Given the description of an element on the screen output the (x, y) to click on. 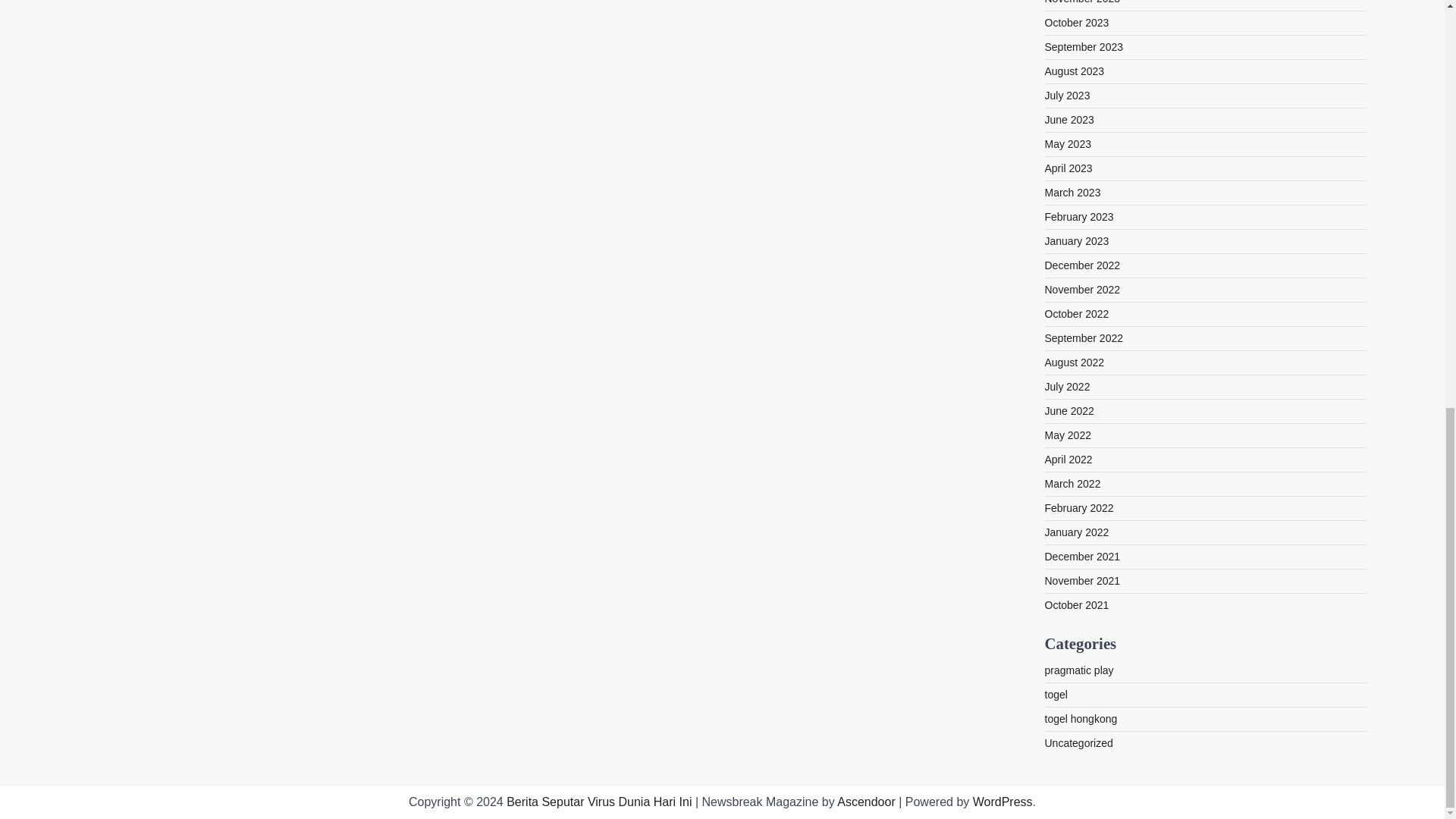
July 2023 (1067, 95)
October 2023 (1077, 22)
August 2023 (1075, 70)
November 2023 (1083, 2)
September 2023 (1084, 46)
